Given the description of an element on the screen output the (x, y) to click on. 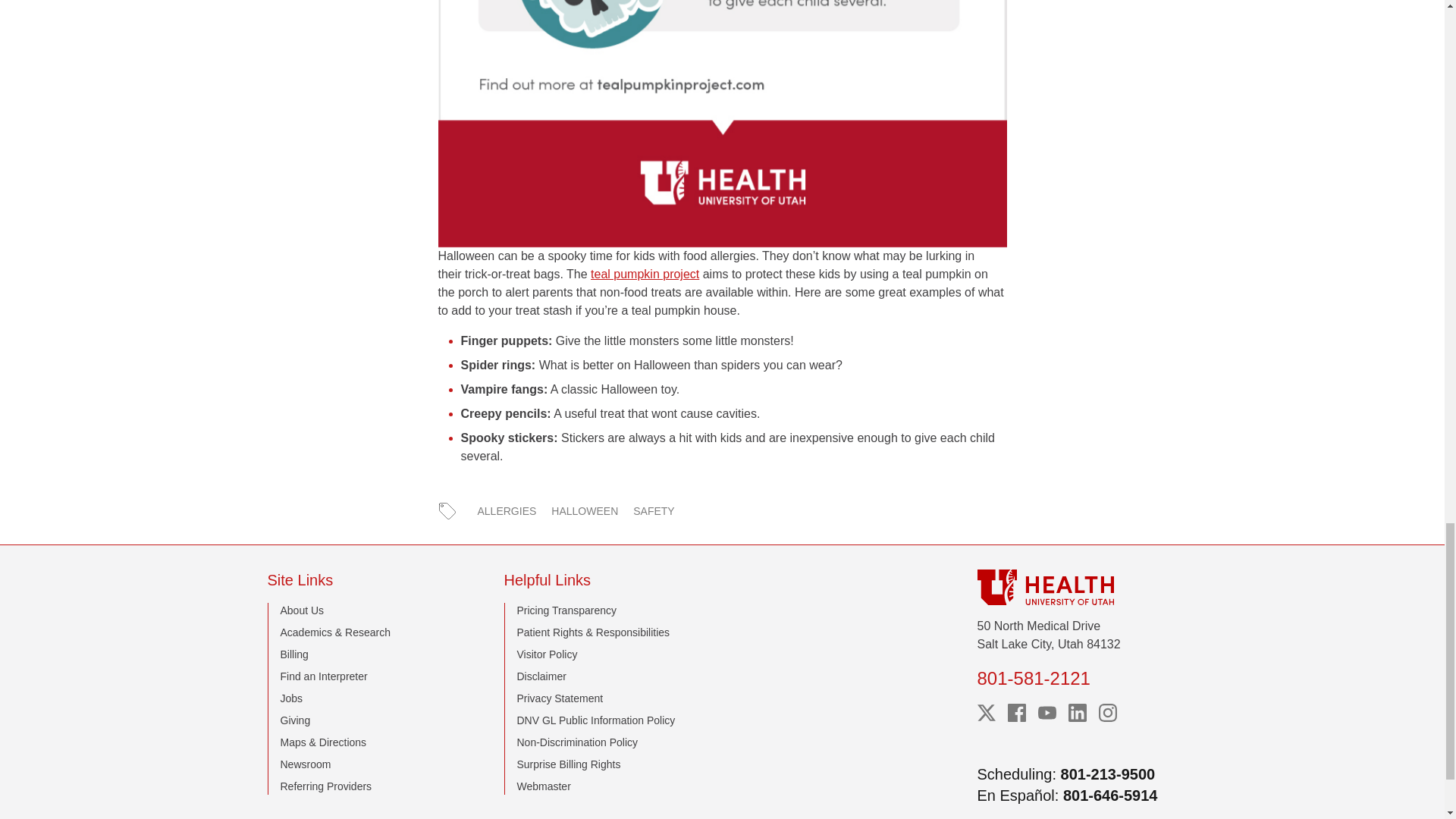
teal pumpkin project (644, 273)
ALLERGIES (507, 511)
SAFETY (653, 511)
HALLOWEEN (584, 511)
University of Utah Healthcare (1076, 587)
